Given the description of an element on the screen output the (x, y) to click on. 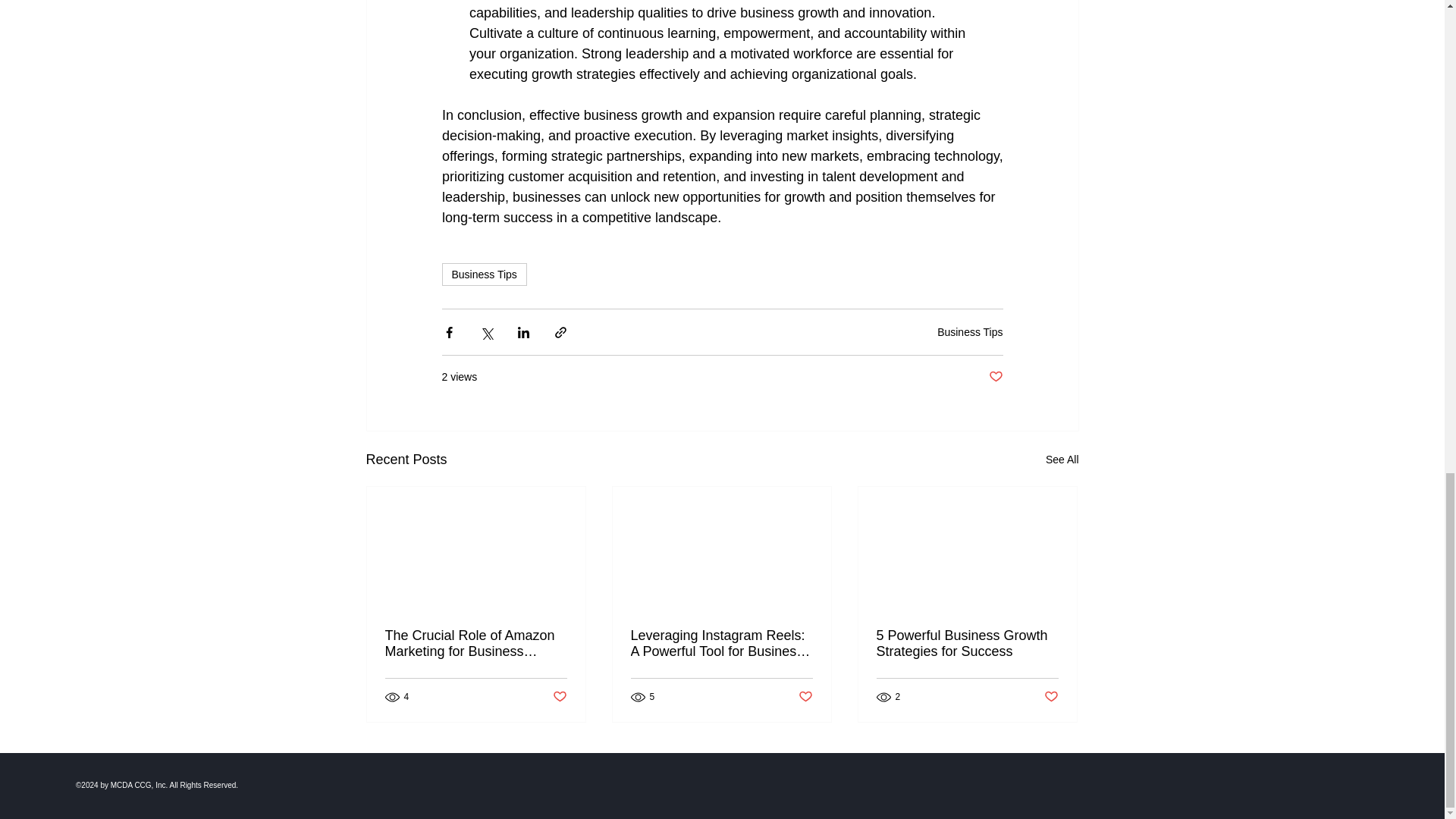
Post not marked as liked (558, 697)
Business Tips (970, 331)
Post not marked as liked (995, 376)
Business Tips (483, 273)
The Crucial Role of Amazon Marketing for Business Growth (476, 644)
See All (1061, 459)
